Given the description of an element on the screen output the (x, y) to click on. 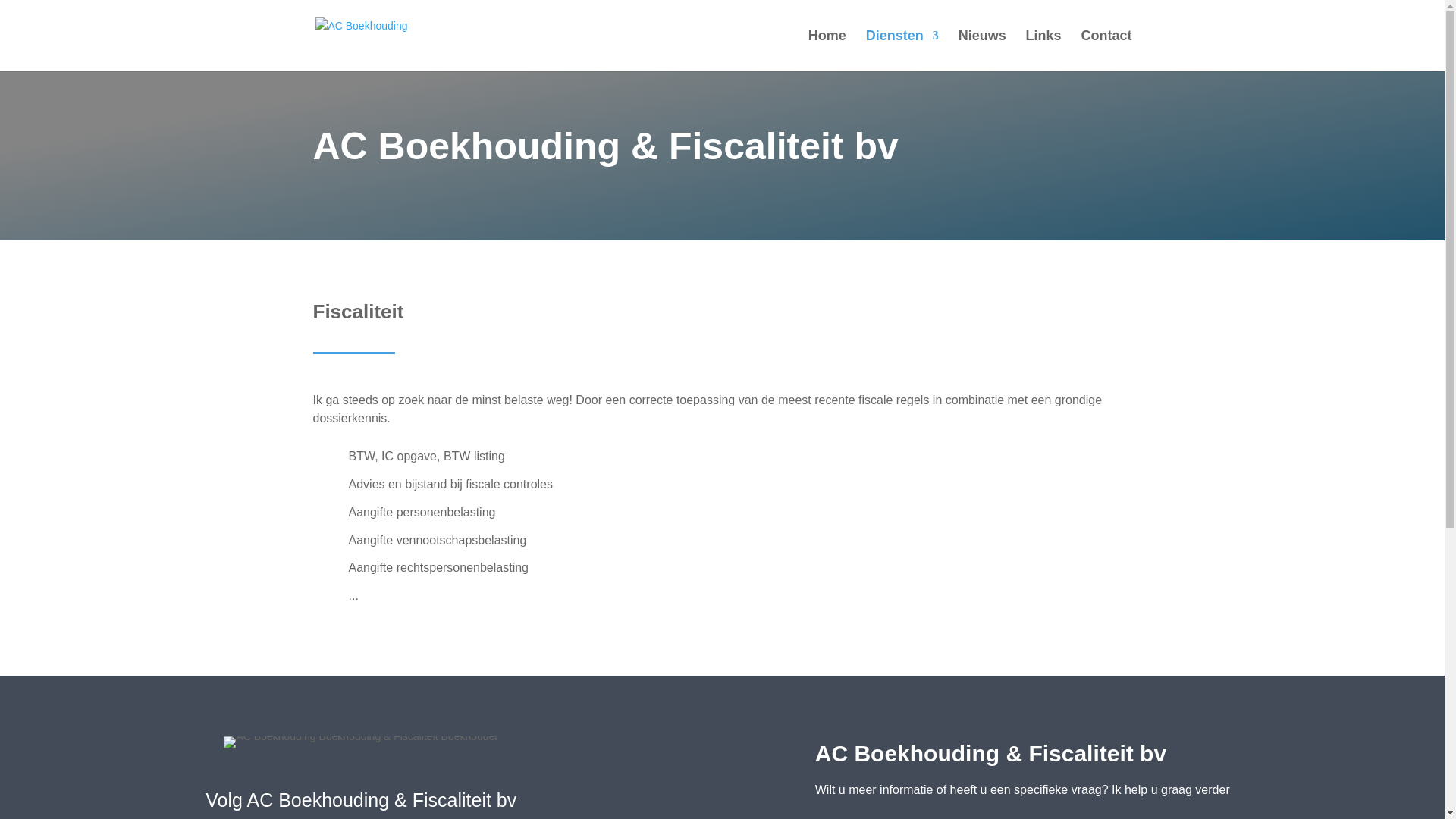
Links Element type: text (1043, 50)
Contact Element type: text (1106, 50)
Logo AC Boekhouding & Fiscaliteit Element type: hover (360, 742)
Home Element type: text (827, 50)
Nieuws Element type: text (982, 50)
Diensten Element type: text (902, 50)
